Given the description of an element on the screen output the (x, y) to click on. 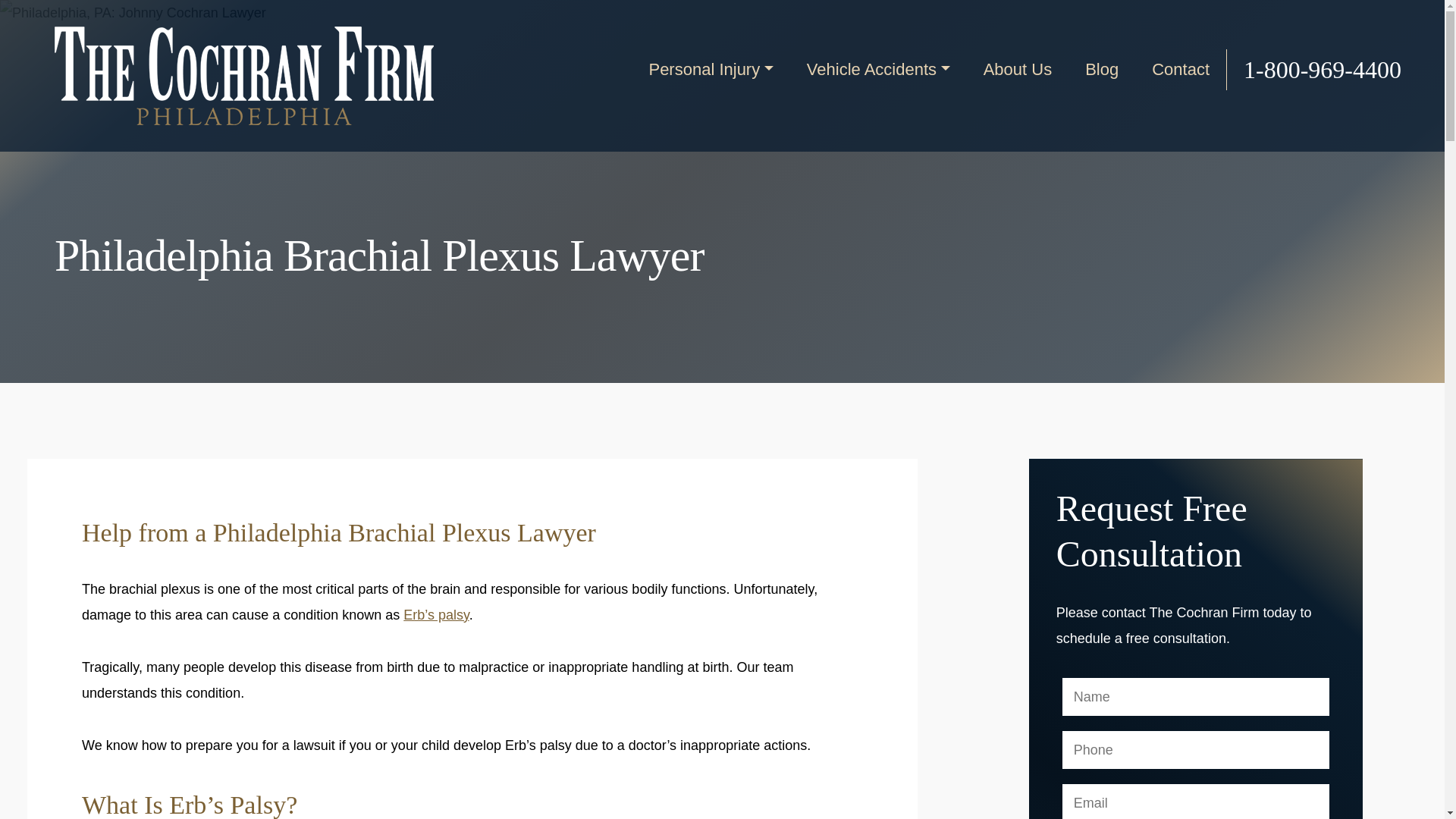
Vehicle Accidents (878, 69)
Personal Injury (710, 69)
Vehicle Accidents (878, 69)
1-800-969-4400 (1313, 69)
Cochran Firm Philadelphia (244, 75)
Personal Injury (710, 69)
About Us (1017, 69)
Blog (1101, 69)
Contact (1180, 69)
